Given the description of an element on the screen output the (x, y) to click on. 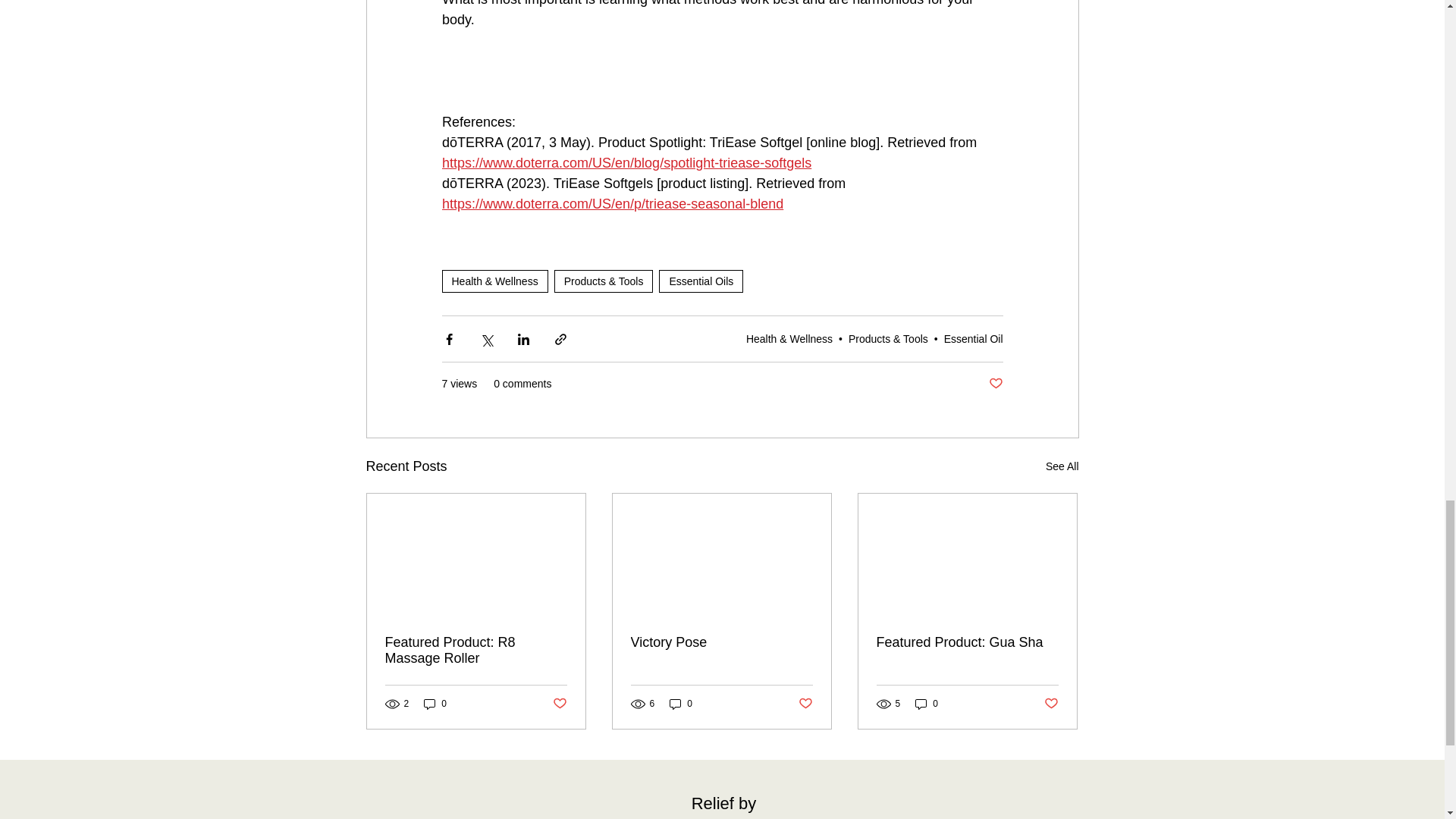
Essential Oil (973, 338)
Post not marked as liked (995, 383)
See All (1061, 466)
Essential Oils (700, 281)
